Given the description of an element on the screen output the (x, y) to click on. 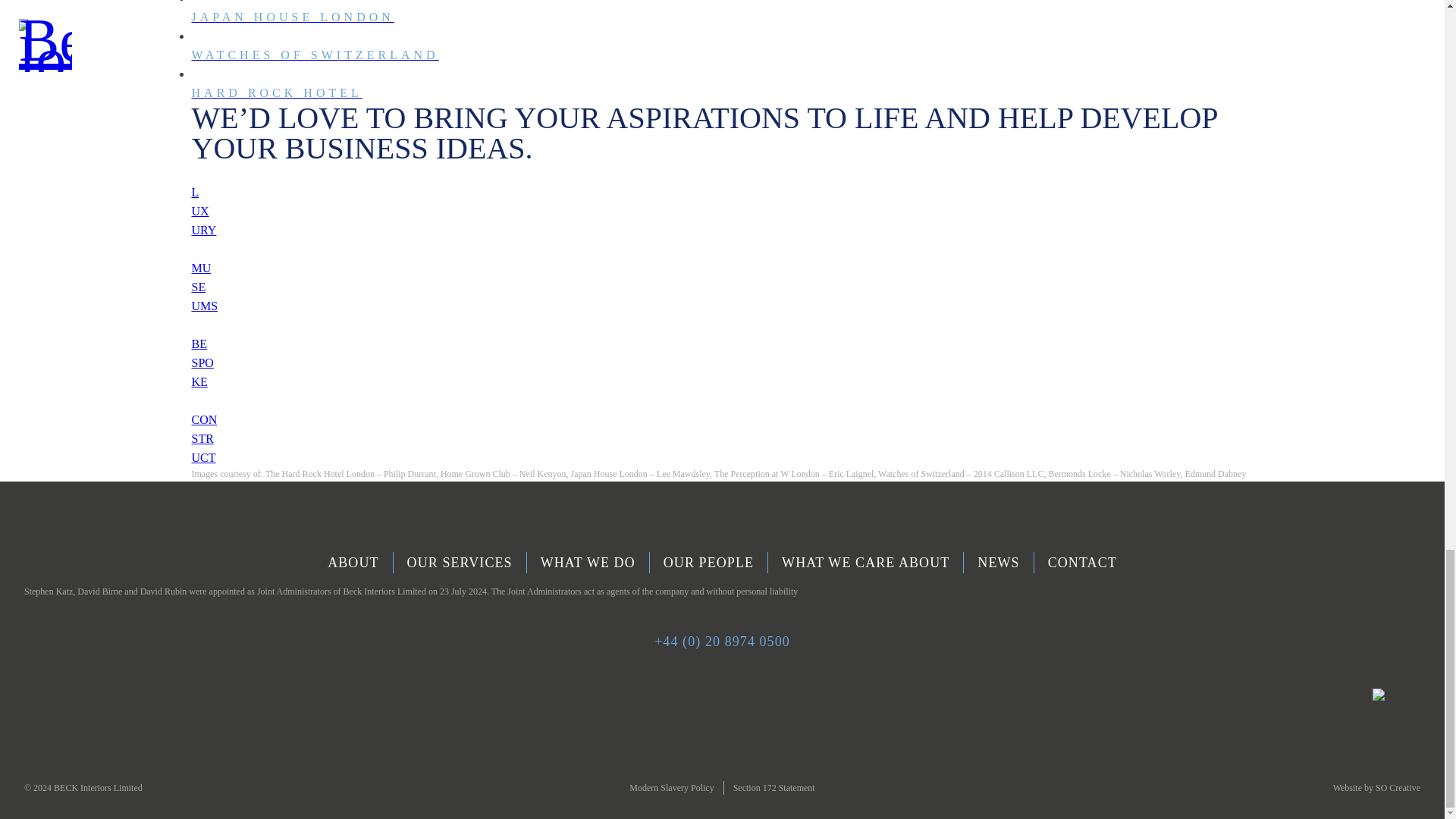
ABOUT (353, 562)
HARD ROCK HOTEL (721, 69)
Website by SO Creative (1356, 788)
WHAT WE CARE ABOUT (865, 562)
OUR PEOPLE (708, 562)
CONTACT (721, 265)
Section 172 Statement (1082, 562)
Modern Slavery Policy (773, 788)
